Given the description of an element on the screen output the (x, y) to click on. 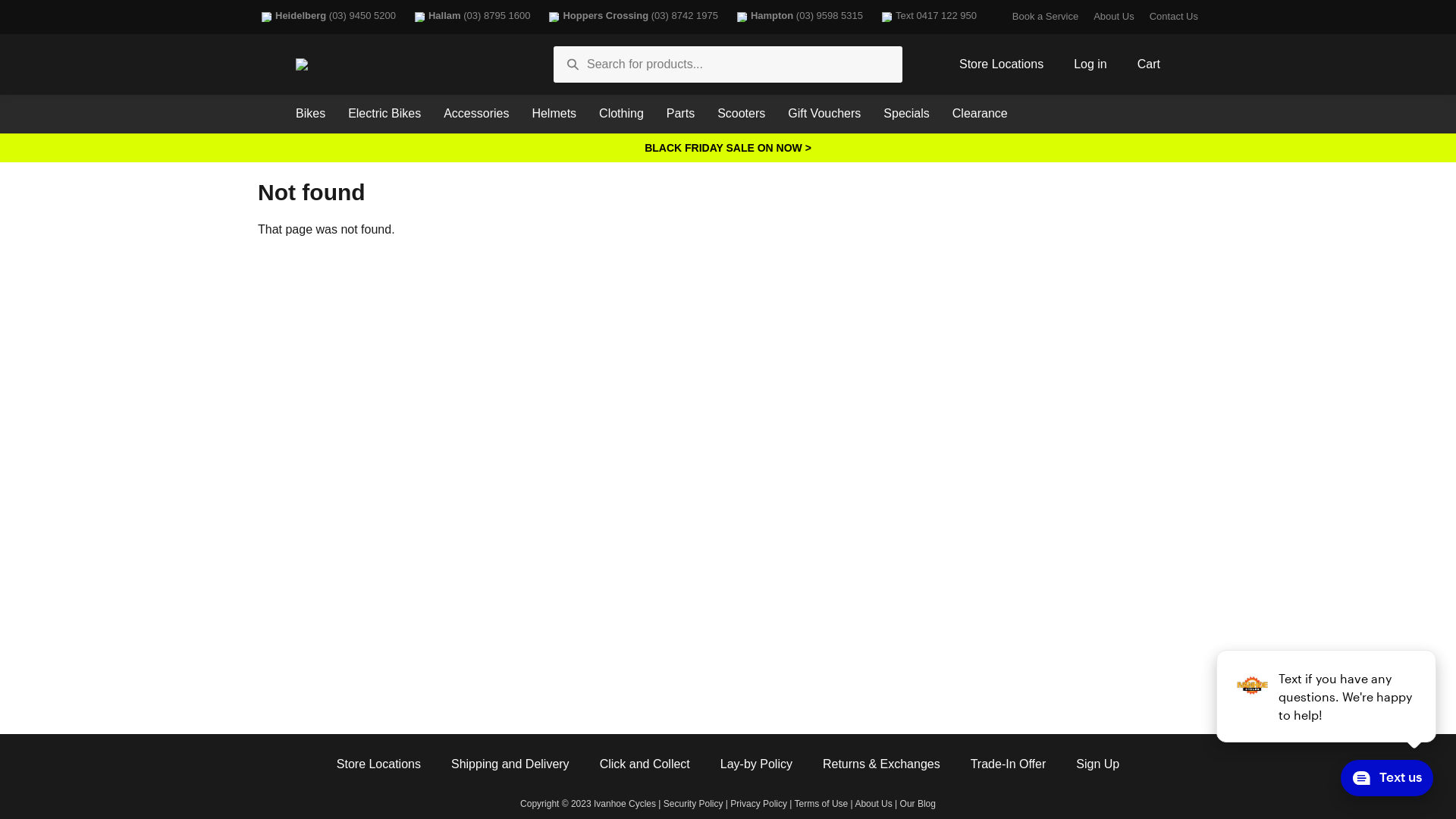
Scooters Element type: text (741, 113)
Click and Collect Element type: text (644, 764)
Store Locations Element type: text (378, 764)
Terms of Use Element type: text (821, 803)
Hampton (03) 9598 5315 Element type: text (797, 16)
Contact Us Element type: text (1173, 17)
Our Blog Element type: text (917, 803)
Log in Element type: text (1090, 64)
About Us Element type: text (1113, 17)
Helmets Element type: text (553, 113)
Text 0417 122 950 Element type: text (927, 16)
Hallam (03) 8795 1600 Element type: text (470, 16)
About Us Element type: text (872, 803)
Trade-In Offer Element type: text (1008, 764)
Parts Element type: text (680, 113)
Book a Service Element type: text (1045, 17)
Bikes Element type: text (310, 113)
Accessories Element type: text (476, 113)
Electric Bikes Element type: text (384, 113)
Clothing Element type: text (621, 113)
Cart Element type: text (1148, 64)
Returns & Exchanges Element type: text (881, 764)
Specials Element type: text (906, 113)
Privacy Policy Element type: text (758, 803)
Clearance Element type: text (980, 113)
Security Policy Element type: text (693, 803)
Heidelberg (03) 9450 5200 Element type: text (326, 16)
Gift Vouchers Element type: text (824, 113)
Shipping and Delivery Element type: text (510, 764)
Store Locations Element type: text (1001, 64)
Lay-by Policy Element type: text (756, 764)
Sign Up Element type: text (1097, 764)
Hoppers Crossing (03) 8742 1975 Element type: text (631, 16)
BLACK FRIDAY SALE ON NOW > Element type: text (727, 147)
